Given the description of an element on the screen output the (x, y) to click on. 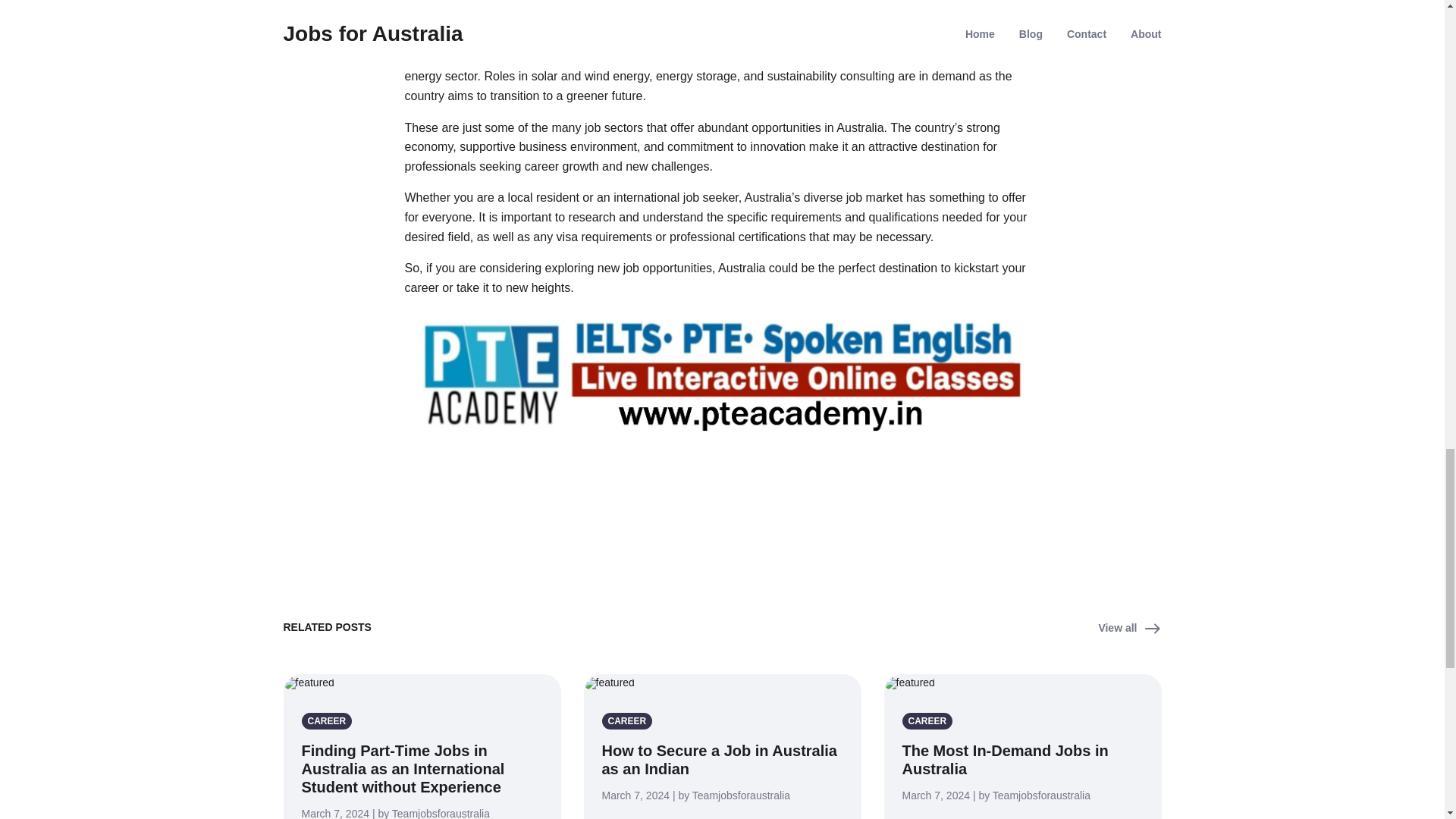
CAREER (930, 720)
CAREER (630, 720)
View all (1128, 628)
The Most In-Demand Jobs in Australia (1005, 759)
How to Secure a Job in Australia as an Indian (719, 759)
pte-ad2024 (722, 373)
CAREER (329, 720)
